Given the description of an element on the screen output the (x, y) to click on. 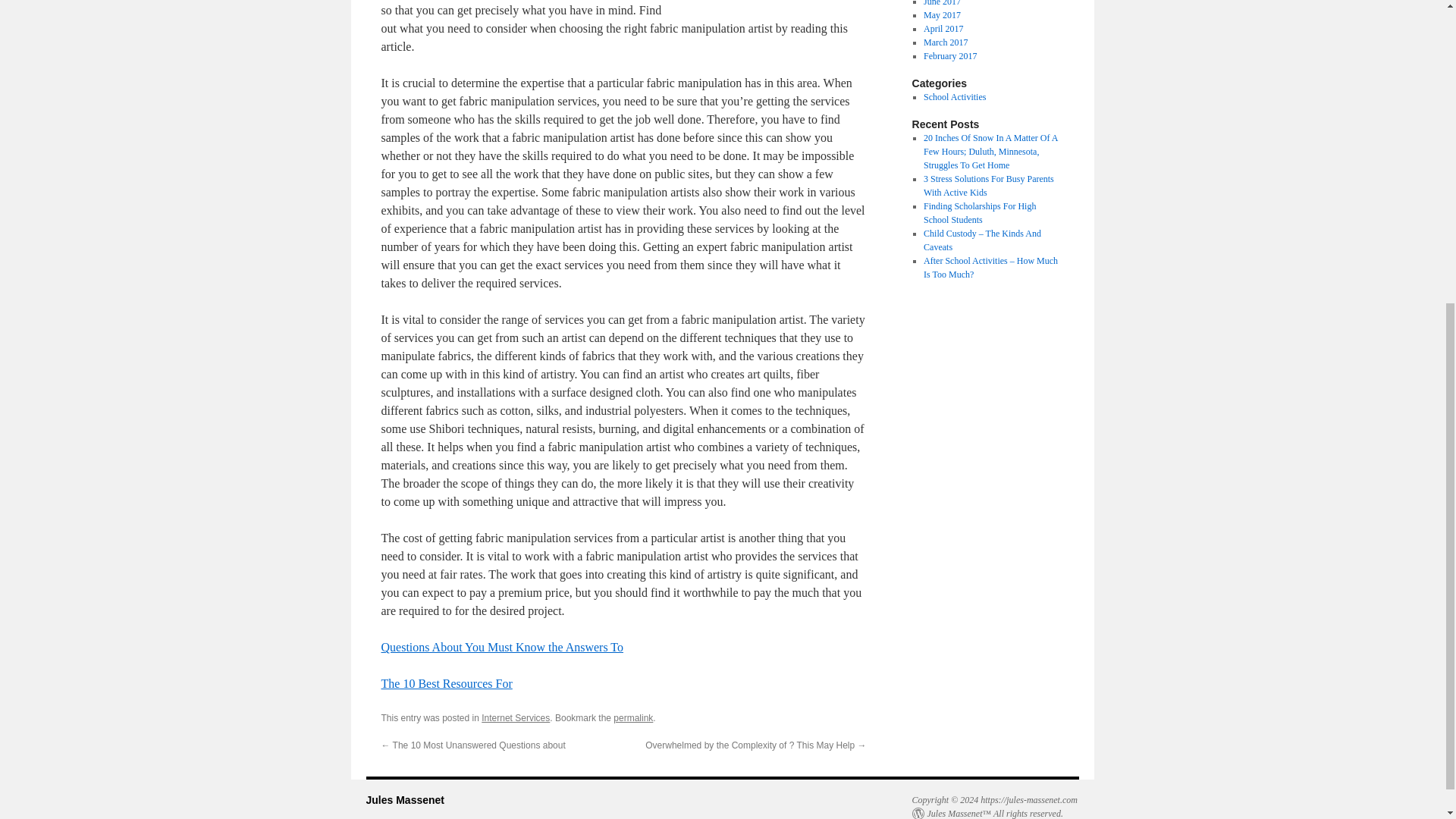
May 2017 (941, 14)
June 2017 (941, 3)
Internet Services (515, 717)
The 10 Best Resources For (446, 683)
April 2017 (942, 28)
Jules Massenet (404, 799)
3 Stress Solutions For Busy Parents With Active Kids (988, 185)
February 2017 (949, 55)
March 2017 (945, 41)
Jules Massenet (404, 799)
Permalink to Learning The Secrets About (632, 717)
permalink (632, 717)
Questions About You Must Know the Answers To (501, 646)
Finding Scholarships For High School Students (979, 212)
